Given the description of an element on the screen output the (x, y) to click on. 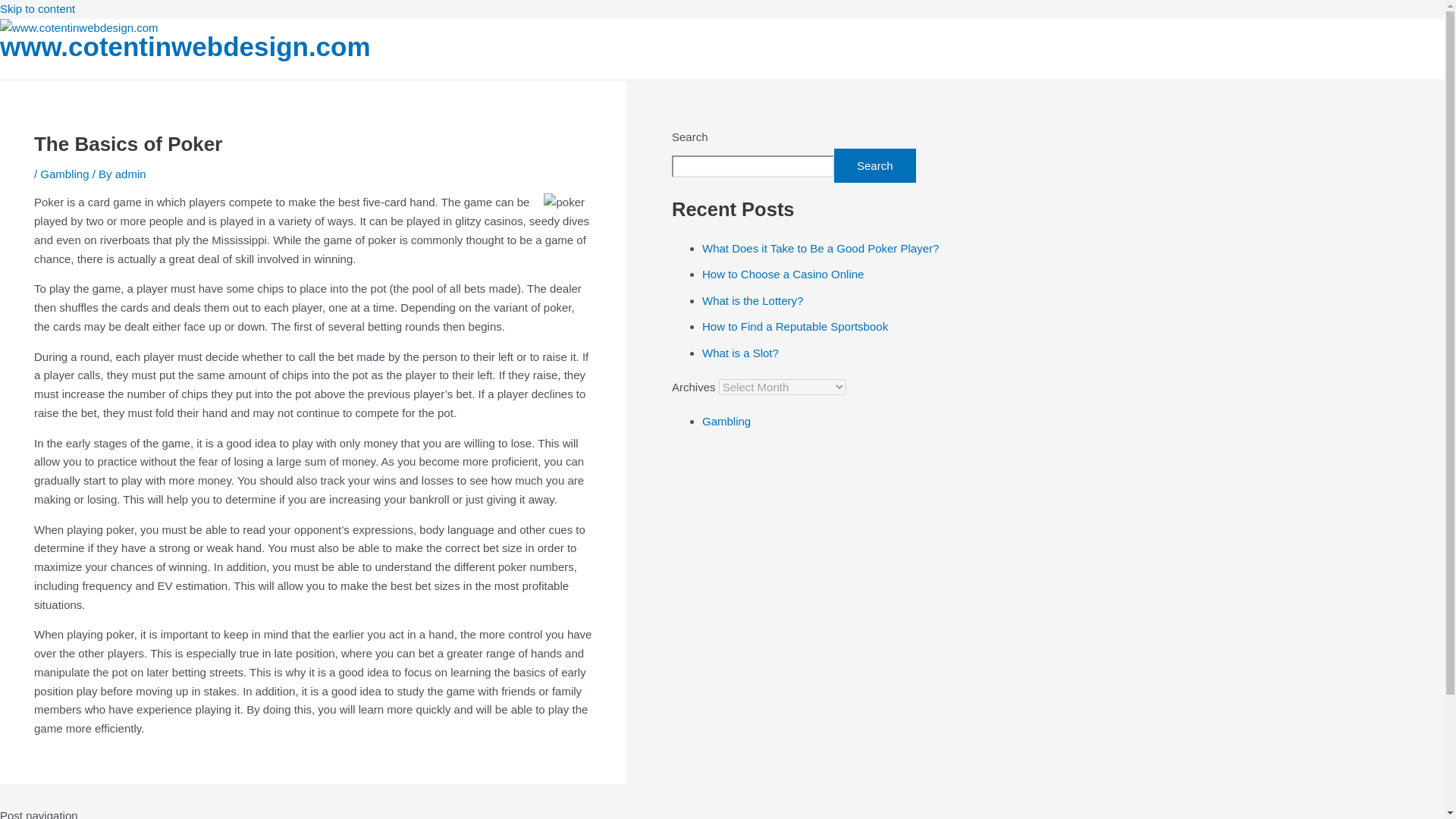
Skip to content (37, 8)
Gambling (64, 173)
www.cotentinwebdesign.com (185, 46)
Search (874, 165)
admin (131, 173)
View all posts by admin (131, 173)
What Does it Take to Be a Good Poker Player? (820, 247)
What is the Lottery? (752, 300)
What is a Slot? (739, 352)
How to Find a Reputable Sportsbook (794, 326)
How to Choose a Casino Online (782, 273)
Gambling (726, 420)
Skip to content (37, 8)
